Given the description of an element on the screen output the (x, y) to click on. 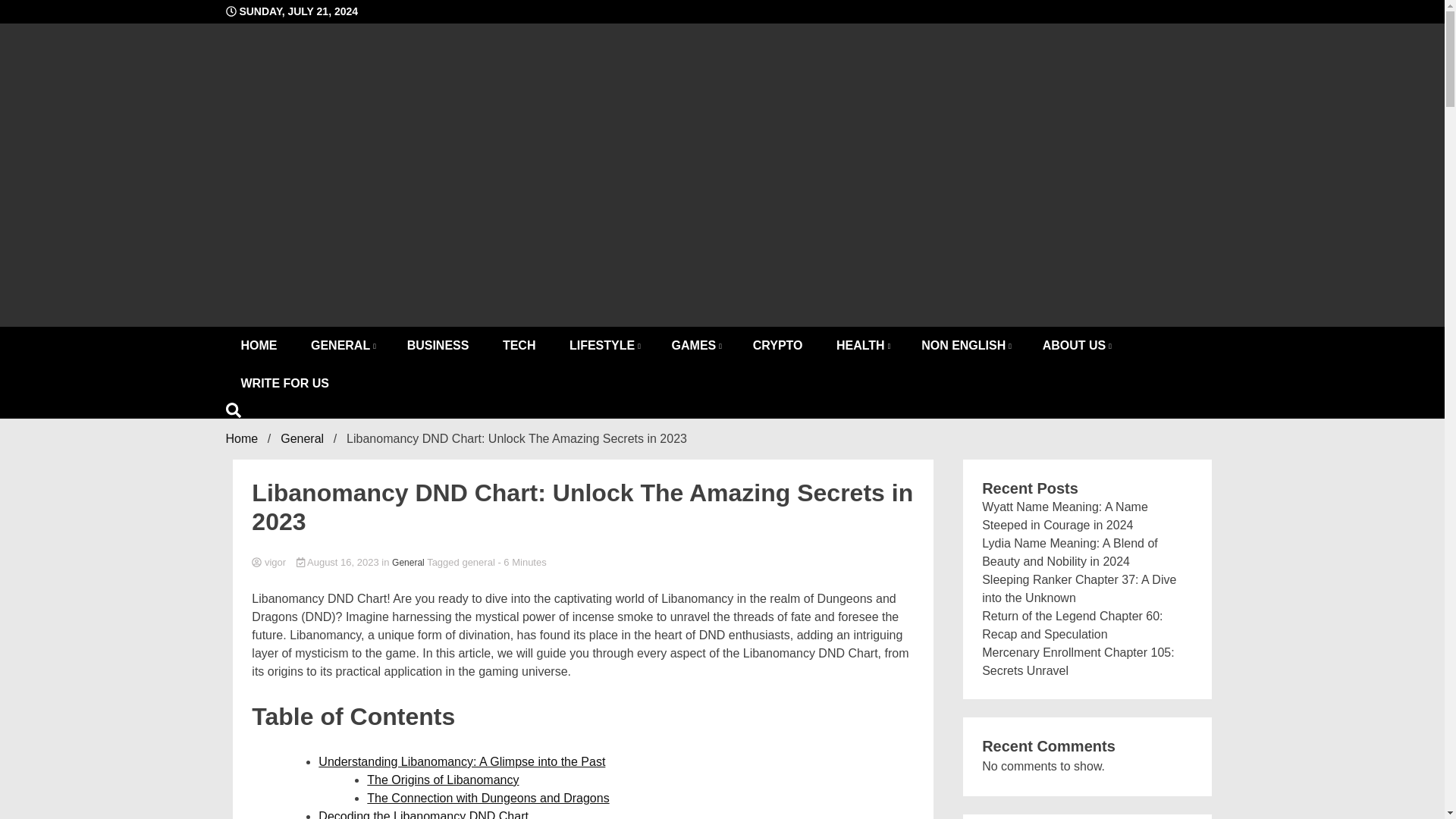
general (478, 562)
CRYPTO (778, 345)
GENERAL (341, 345)
BUSINESS (437, 345)
Estimated Reading Time of Article (521, 562)
General (302, 438)
GAMES (695, 345)
General (408, 562)
WRITE FOR US (284, 383)
TECH (519, 345)
August 16, 2023 (339, 562)
HEALTH (861, 345)
Vigorousism: The Best Magzine on Health and Lifestyle (496, 303)
HOME (258, 345)
